Given the description of an element on the screen output the (x, y) to click on. 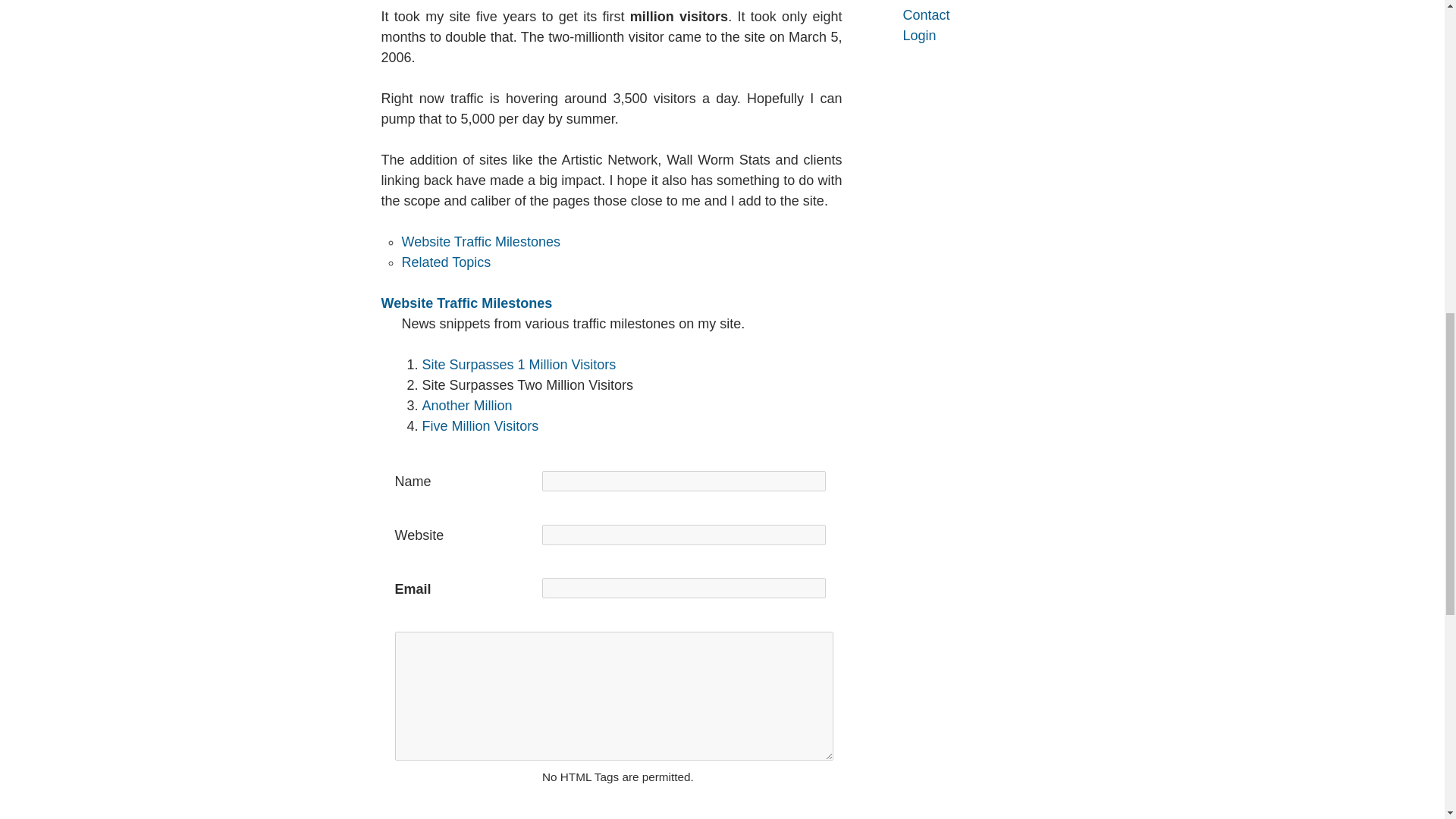
Login (971, 35)
Max 255 Characters (463, 535)
Another Million (467, 405)
Max 255 Characters (463, 481)
Type your comment here. (613, 695)
Website Traffic Milestones (480, 241)
Max 255 Characters (683, 480)
Five Million Visitors (480, 426)
Max 255 Characters (463, 589)
Max 255 Characters (683, 588)
Contact (971, 14)
Site Surpasses 1 Million Visitors (518, 364)
Max 255 Characters (683, 534)
Website Traffic Milestones (465, 303)
